Given the description of an element on the screen output the (x, y) to click on. 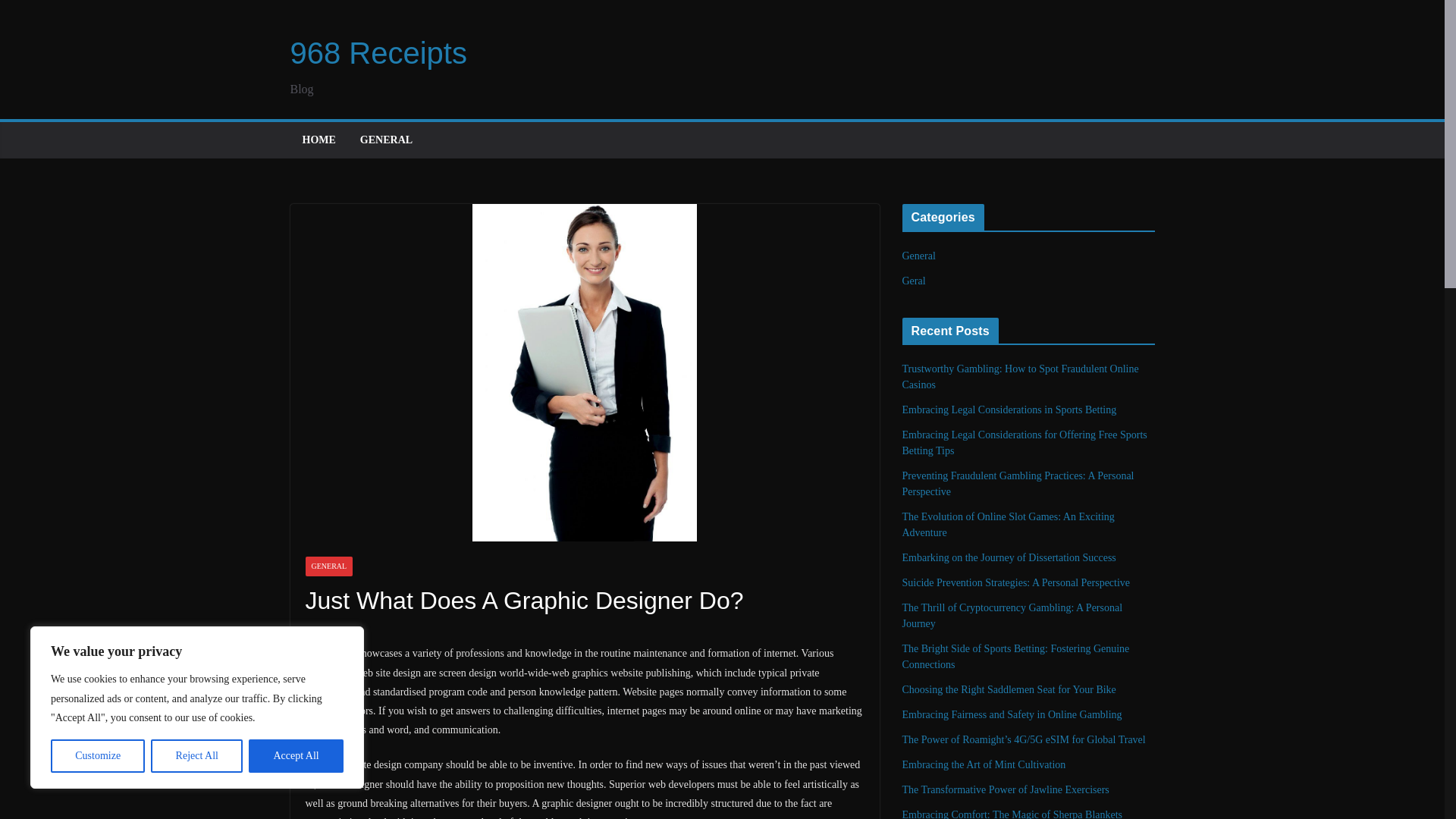
HOME (317, 139)
Embracing Legal Considerations in Sports Betting (1009, 409)
Geral (914, 280)
968 Receipts (377, 52)
968 Receipts (377, 52)
Reject All (197, 756)
Suicide Prevention Strategies: A Personal Perspective (1016, 582)
GENERAL (328, 566)
Trustworthy Gambling: How to Spot Fraudulent Online Casinos (1020, 376)
Embarking on the Journey of Dissertation Success (1009, 557)
The Evolution of Online Slot Games: An Exciting Adventure (1008, 524)
The Thrill of Cryptocurrency Gambling: A Personal Journey (1012, 615)
General (919, 255)
